Given the description of an element on the screen output the (x, y) to click on. 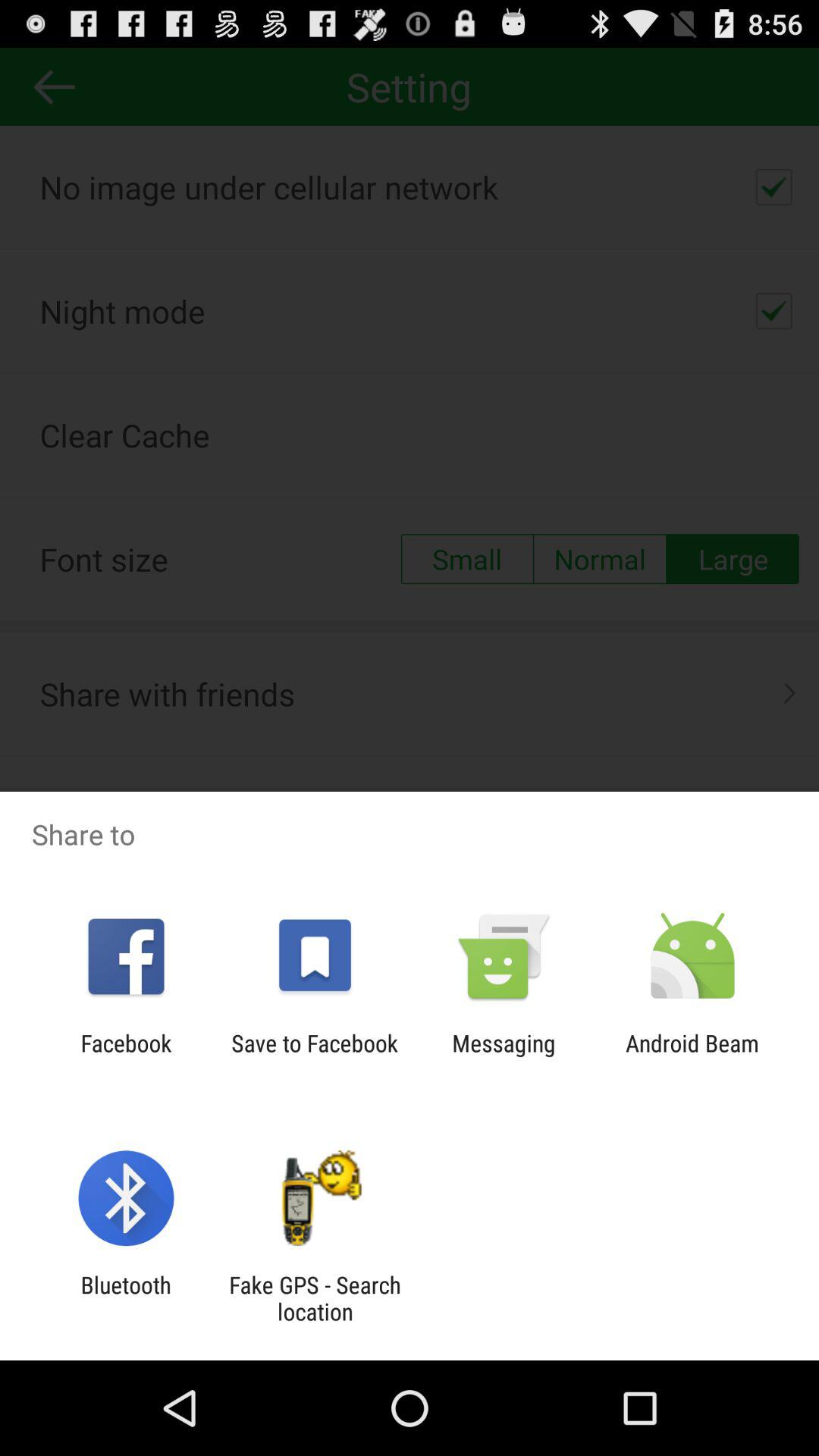
choose the icon next to the facebook (314, 1056)
